Given the description of an element on the screen output the (x, y) to click on. 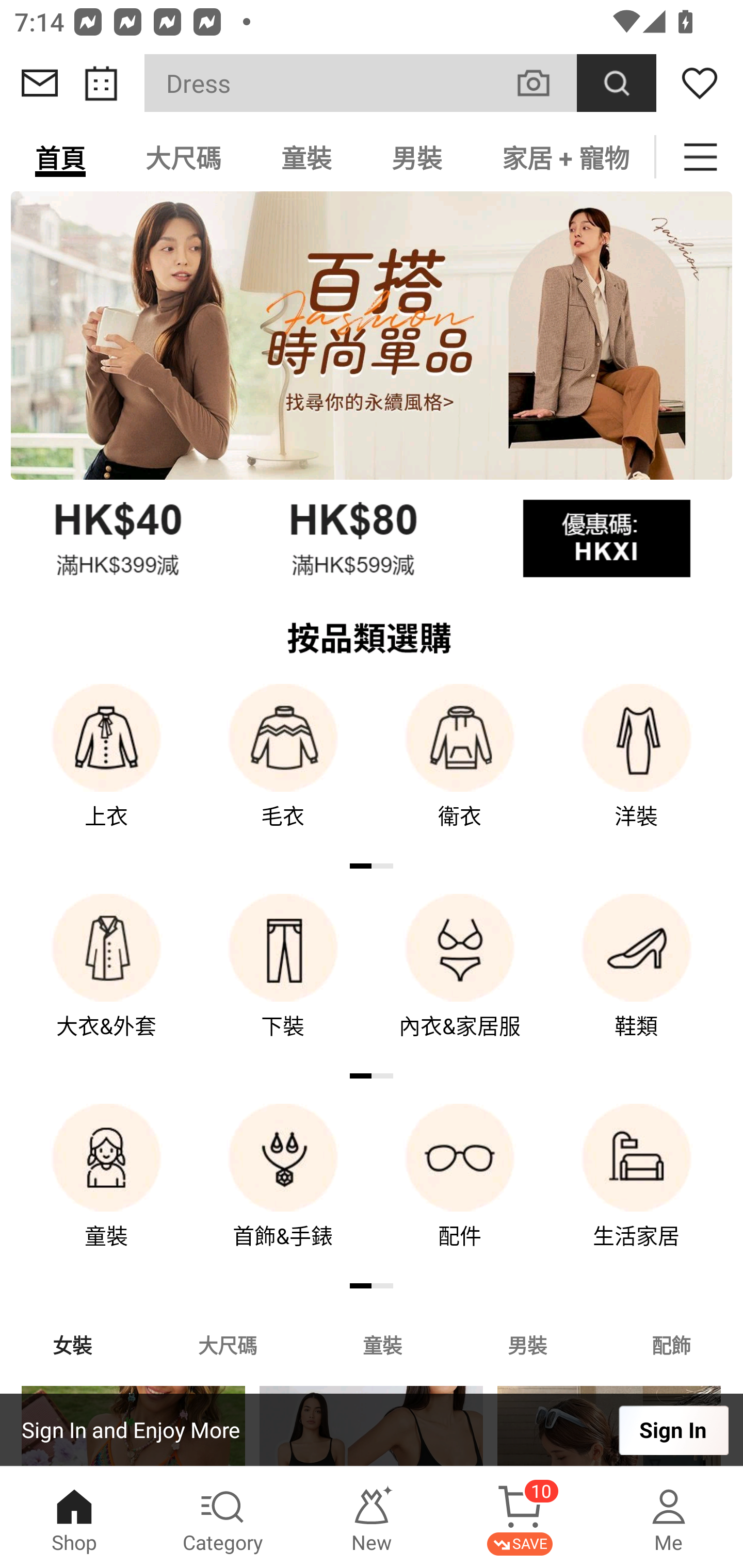
Wishlist (699, 82)
VISUAL SEARCH (543, 82)
首頁 (60, 156)
大尺碼 (183, 156)
童裝 (306, 156)
男裝 (416, 156)
家居 + 寵物 (563, 156)
上衣 (105, 769)
毛衣 (282, 769)
衛衣 (459, 769)
洋裝 (636, 769)
大衣&外套 (105, 979)
下裝 (282, 979)
內衣&家居服 (459, 979)
鞋類 (636, 979)
童裝 (105, 1189)
首飾&手錶 (282, 1189)
配件 (459, 1189)
生活家居 (636, 1189)
女裝 (72, 1344)
大尺碼 (226, 1344)
童裝 (381, 1344)
男裝 (527, 1344)
配飾 (671, 1344)
Sign In and Enjoy More Sign In (371, 1429)
Category (222, 1517)
New (371, 1517)
Cart 10 SAVE (519, 1517)
Me (668, 1517)
